Given the description of an element on the screen output the (x, y) to click on. 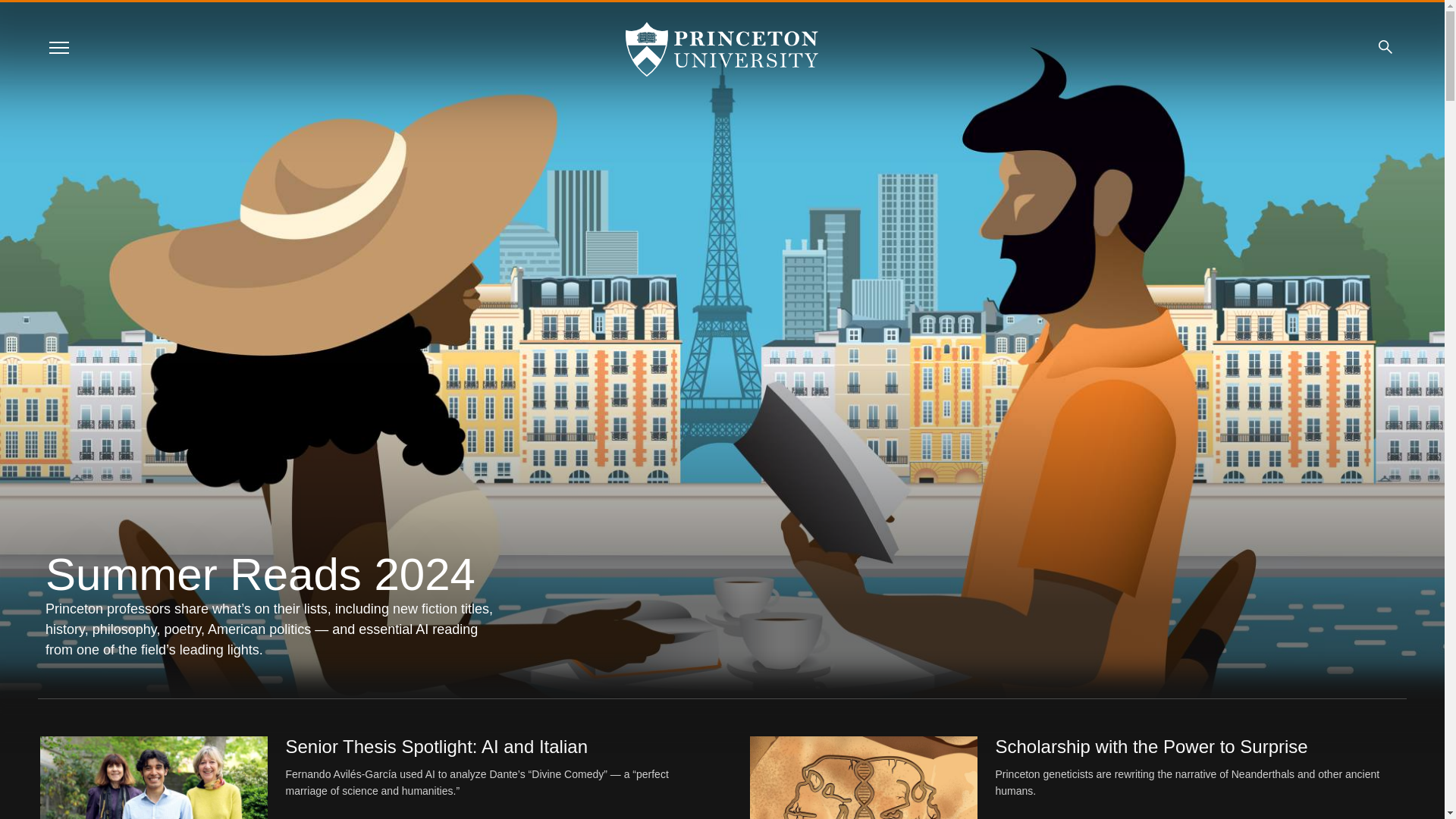
SKIP TO MAIN CONTENT (22, 13)
Search (1384, 47)
Menu (57, 47)
Home (722, 49)
Princeton University (722, 49)
Summer Reads 2024 (260, 573)
